Given the description of an element on the screen output the (x, y) to click on. 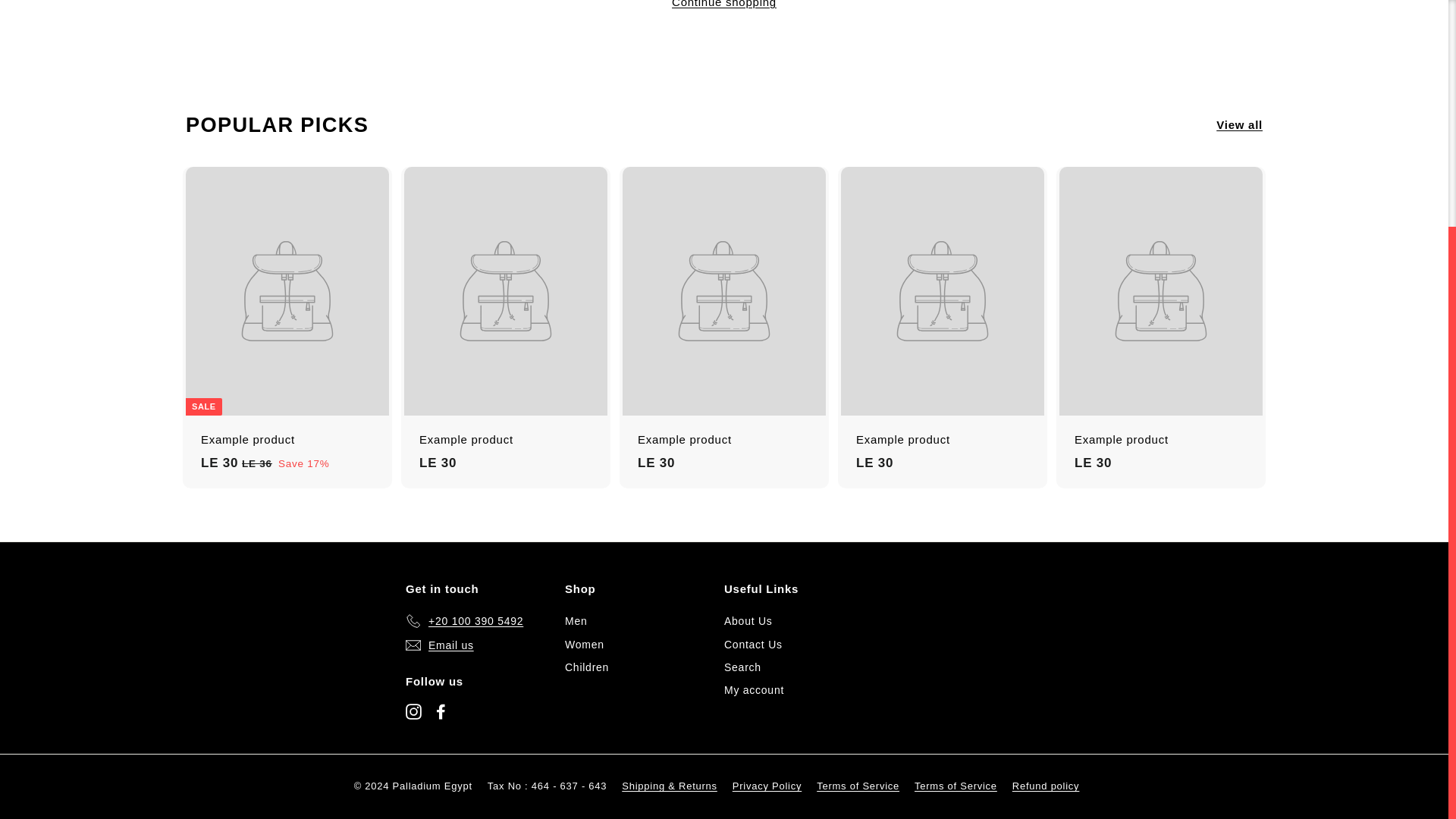
Palladium Egypt on Instagram (414, 710)
Palladium Egypt on Facebook (440, 710)
